Given the description of an element on the screen output the (x, y) to click on. 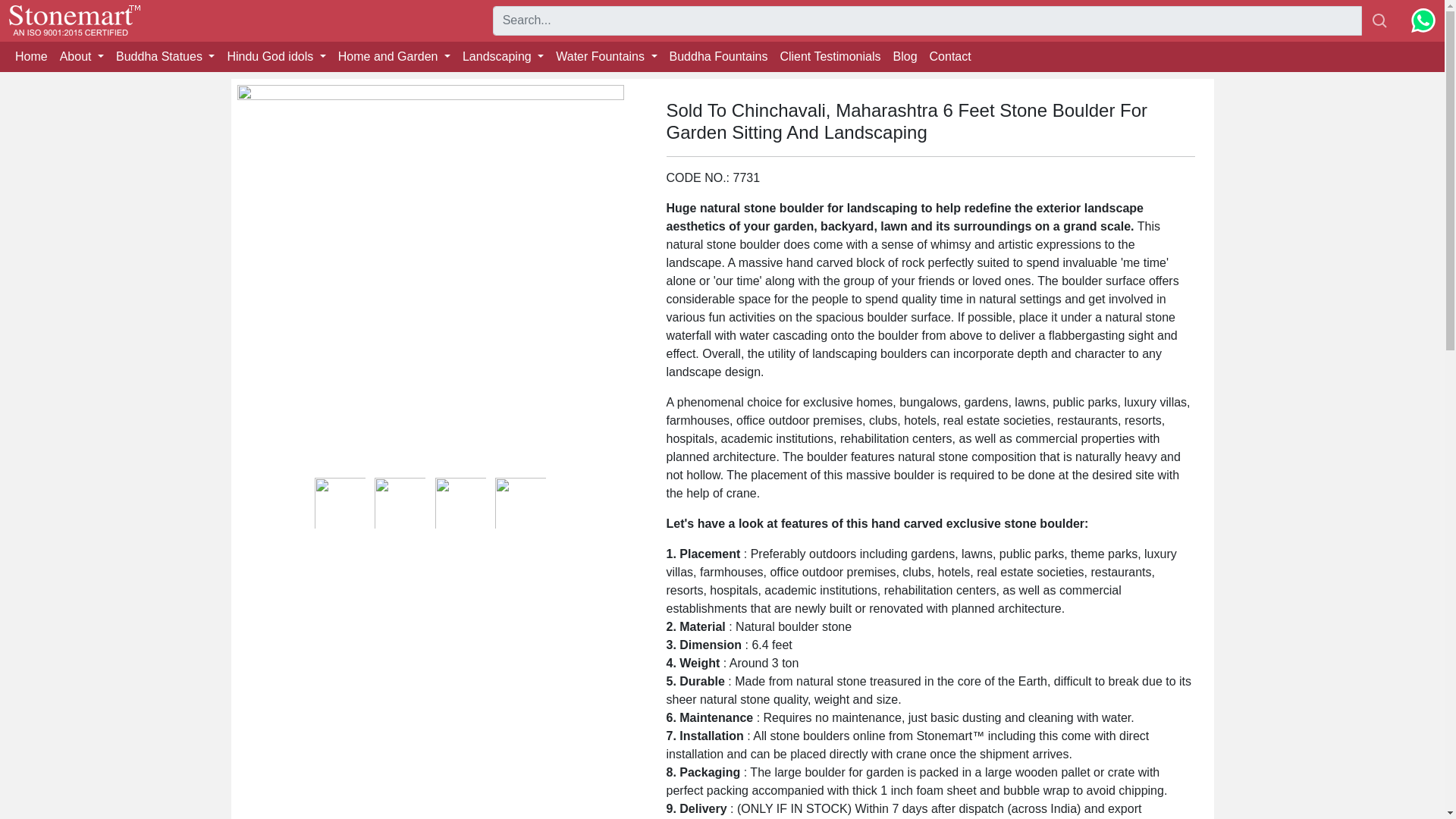
Hindu God idols (276, 56)
Buddha Statues (165, 56)
Home and Garden (394, 56)
About (81, 56)
Home (30, 56)
